Given the description of an element on the screen output the (x, y) to click on. 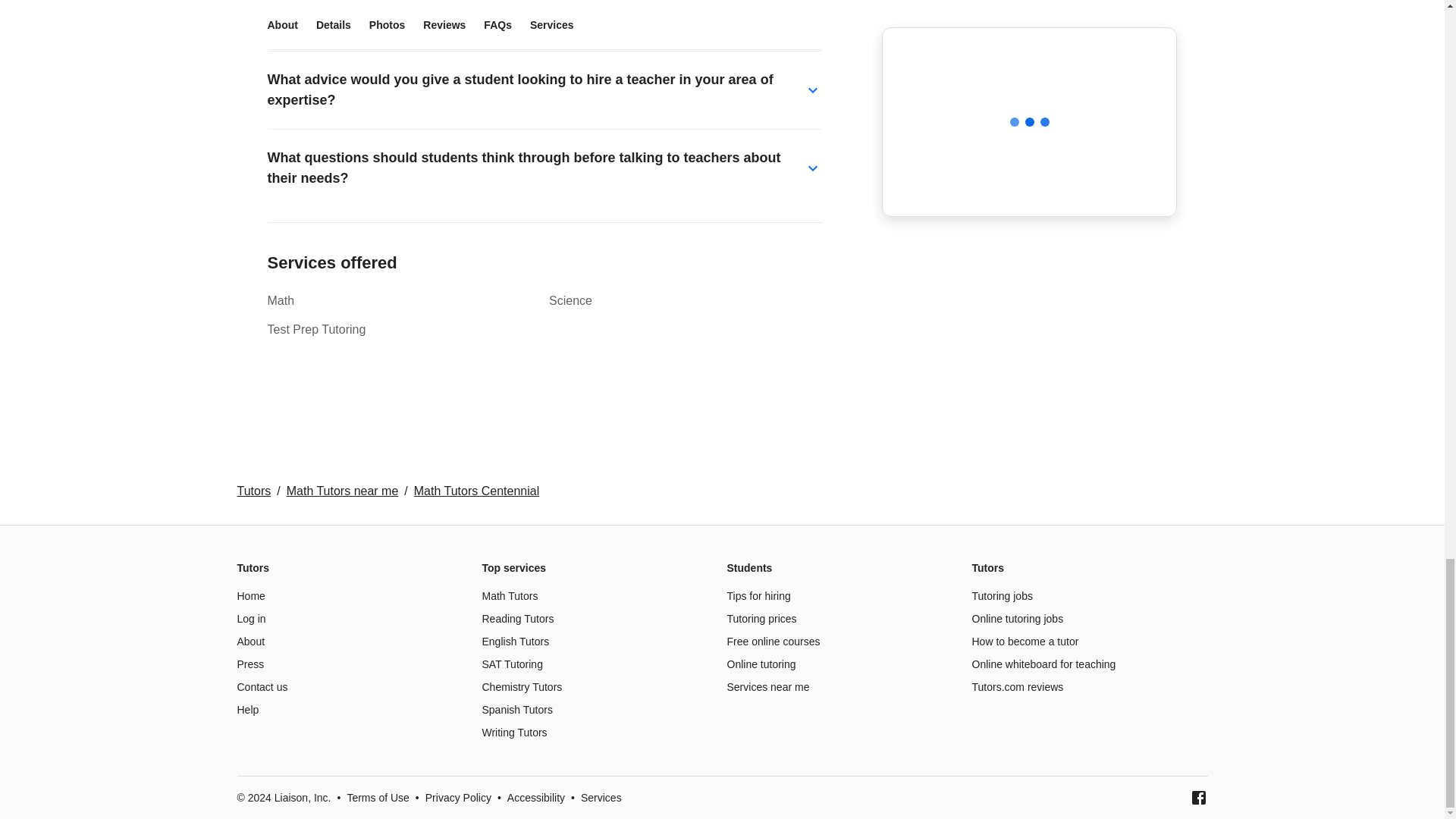
Contact us (260, 686)
Math Tutors (509, 595)
Math Tutors near me (342, 490)
Tutors (252, 490)
Help (247, 709)
Press (249, 664)
Math Tutors Centennial (475, 490)
Facebook (1198, 797)
Home (249, 595)
About (249, 641)
Log in (249, 618)
